Given the description of an element on the screen output the (x, y) to click on. 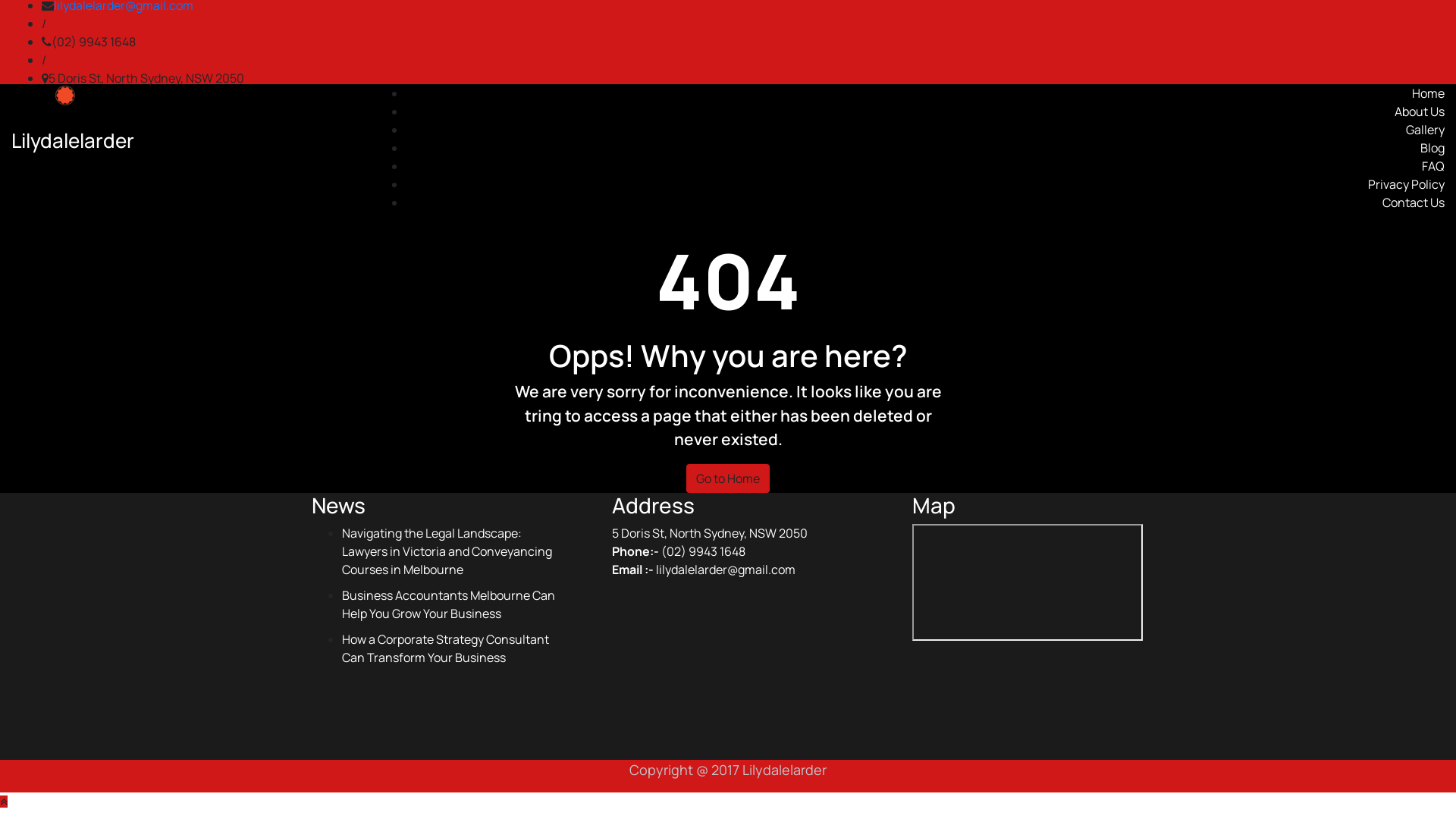
Privacy Policy Element type: text (1406, 183)
Go to Home Element type: text (727, 478)
Lilydalelarder Element type: text (72, 139)
Blog Element type: text (1432, 147)
5 Doris St, North Sydney, NSW 2050 Element type: text (146, 77)
Gallery Element type: text (1424, 129)
Contact Us Element type: text (1413, 202)
(02) 9943 1648 Element type: text (93, 41)
Home Element type: text (1428, 92)
FAQ Element type: text (1432, 165)
About Us Element type: text (1419, 111)
